Given the description of an element on the screen output the (x, y) to click on. 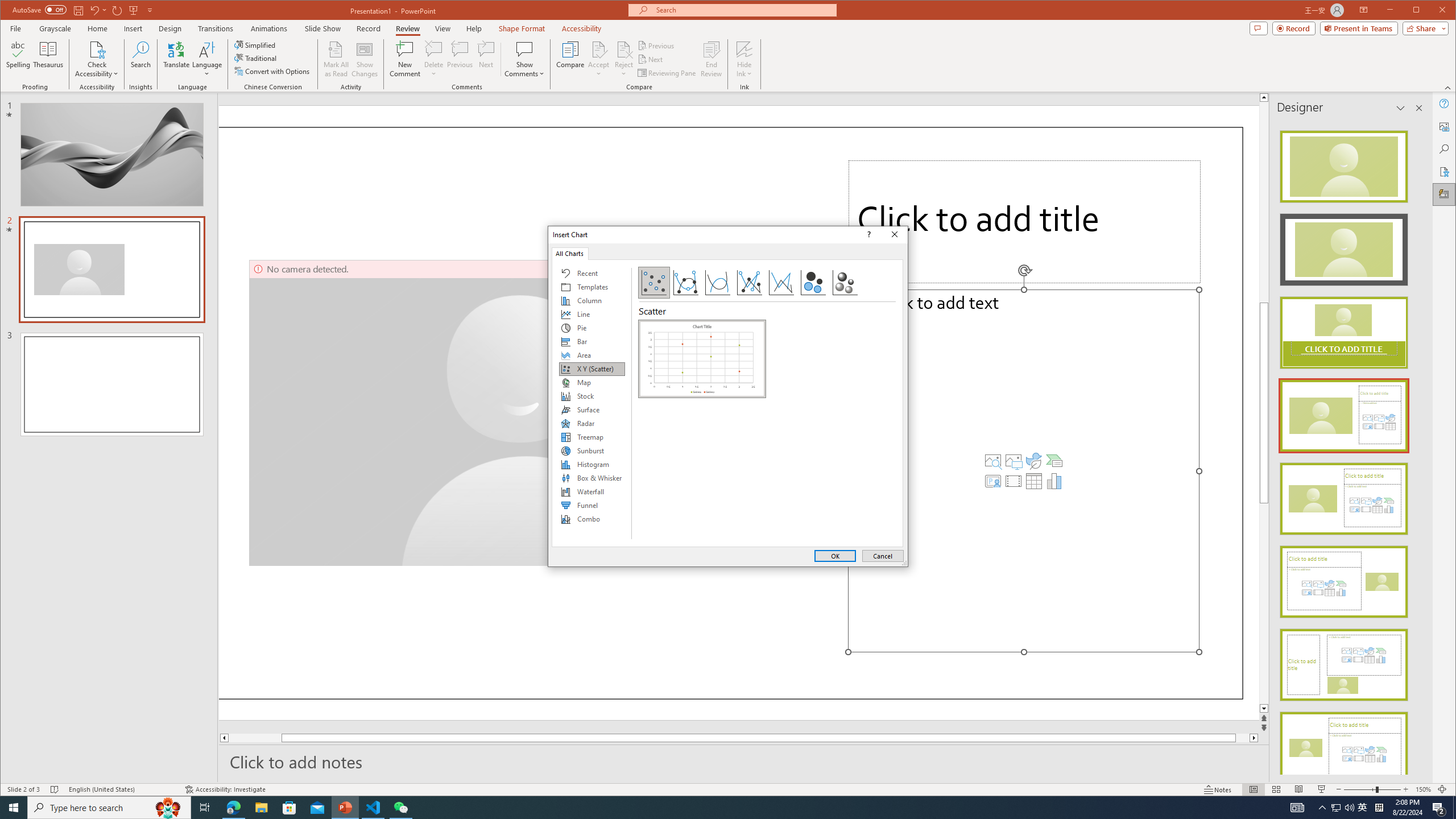
Map (591, 382)
Check Accessibility (96, 59)
Start (13, 807)
Alt Text (1444, 125)
PowerPoint - 1 running window (345, 807)
Compare (1362, 807)
Slide (569, 59)
Radar (111, 384)
